Given the description of an element on the screen output the (x, y) to click on. 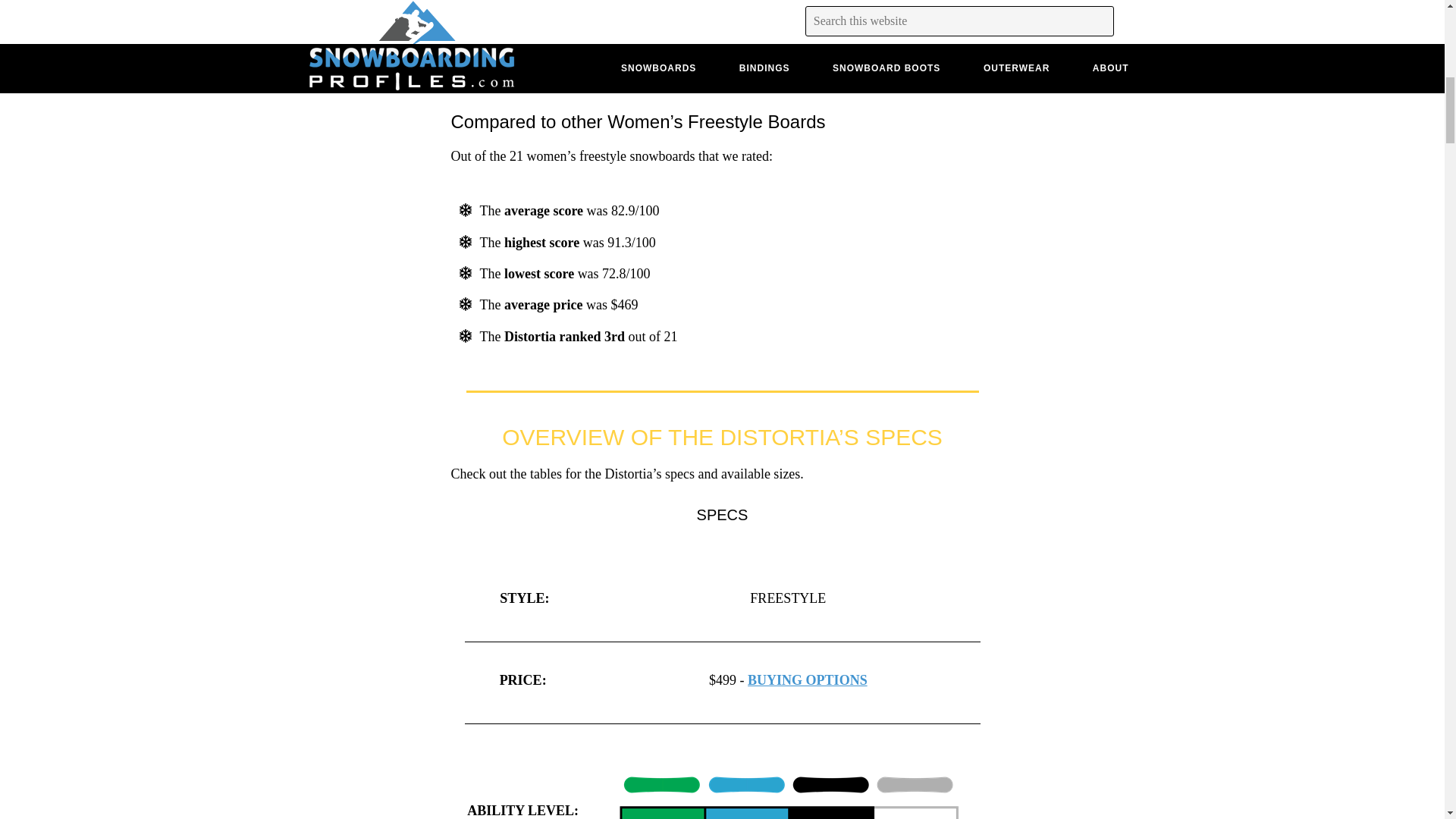
BUYING OPTIONS (807, 679)
